Given the description of an element on the screen output the (x, y) to click on. 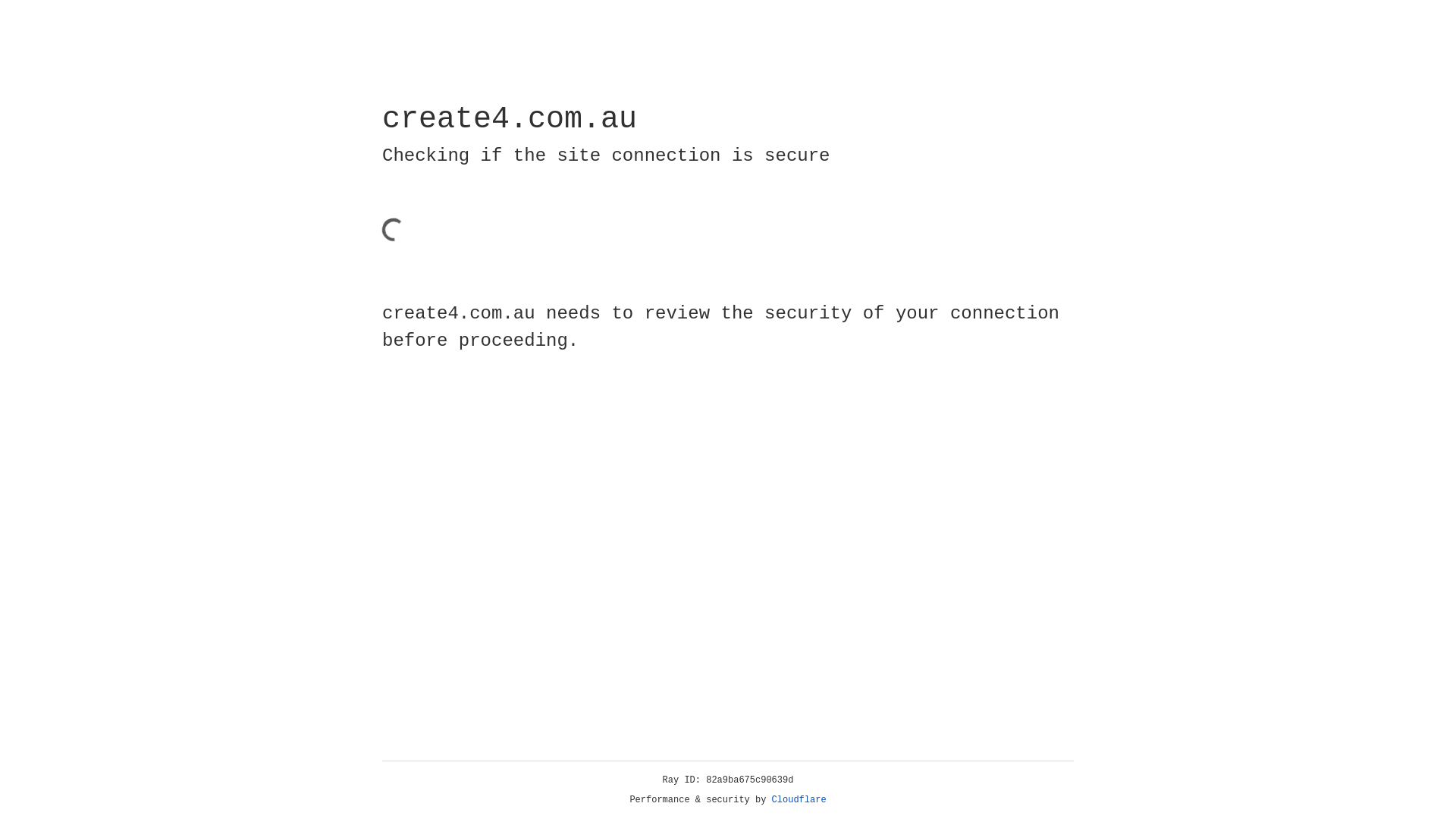
Cloudflare Element type: text (798, 799)
